Given the description of an element on the screen output the (x, y) to click on. 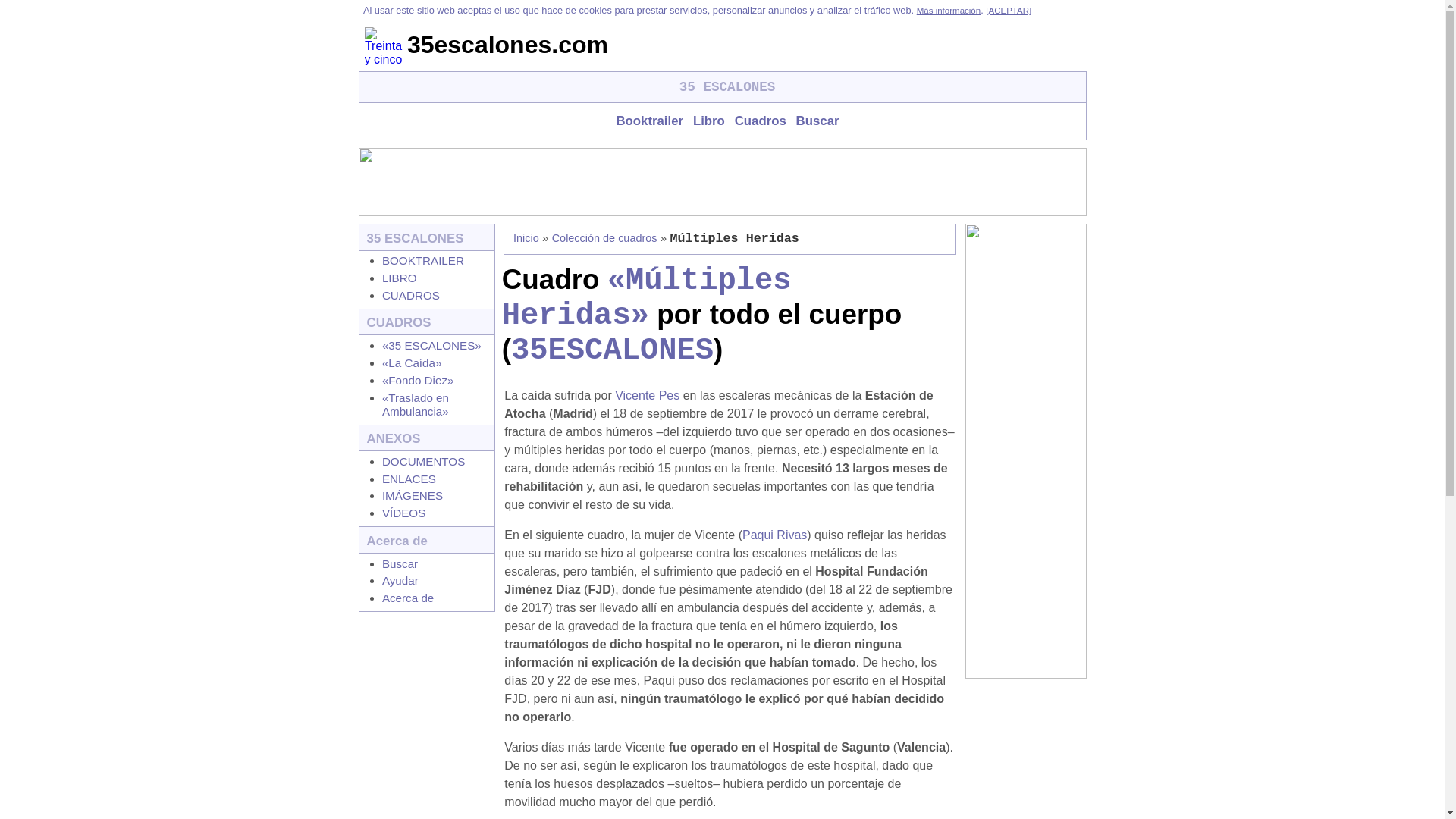
Inicio Element type: text (526, 238)
Paqui Rivas Element type: text (774, 534)
LIBRO Element type: text (399, 277)
Cuadros Element type: text (756, 120)
Vicente Pes Element type: text (647, 395)
BOOKTRAILER Element type: text (423, 260)
Buscar Element type: text (813, 120)
Libro Element type: text (705, 120)
CUADROS Element type: text (410, 294)
[ACEPTAR] Element type: text (1008, 10)
Acerca de Element type: text (407, 597)
Buscar Element type: text (399, 562)
DOCUMENTOS Element type: text (423, 461)
Ayudar Element type: text (400, 580)
ENLACES Element type: text (409, 478)
Booktrailer Element type: text (646, 120)
